Given the description of an element on the screen output the (x, y) to click on. 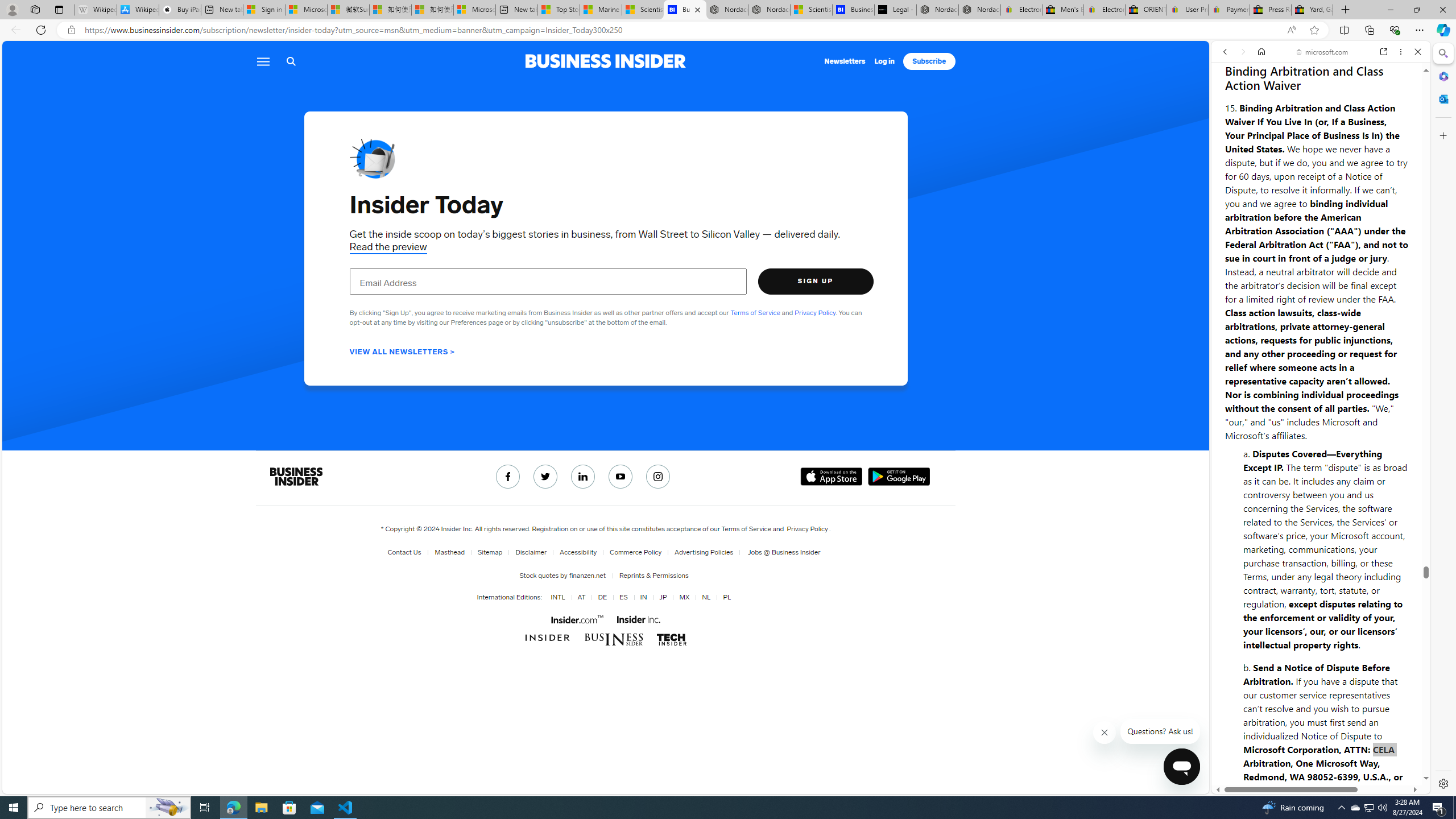
Click to visit us on Instagram (658, 476)
Read the preview (387, 246)
Business Insider DE Logo (613, 639)
ES (621, 597)
Commerce Policy (636, 552)
Click to visit our YouTube channel (620, 476)
NL (705, 597)
Click to visit us on Twitter (544, 476)
Reprints and Permissions (653, 575)
Log in (883, 61)
